Given the description of an element on the screen output the (x, y) to click on. 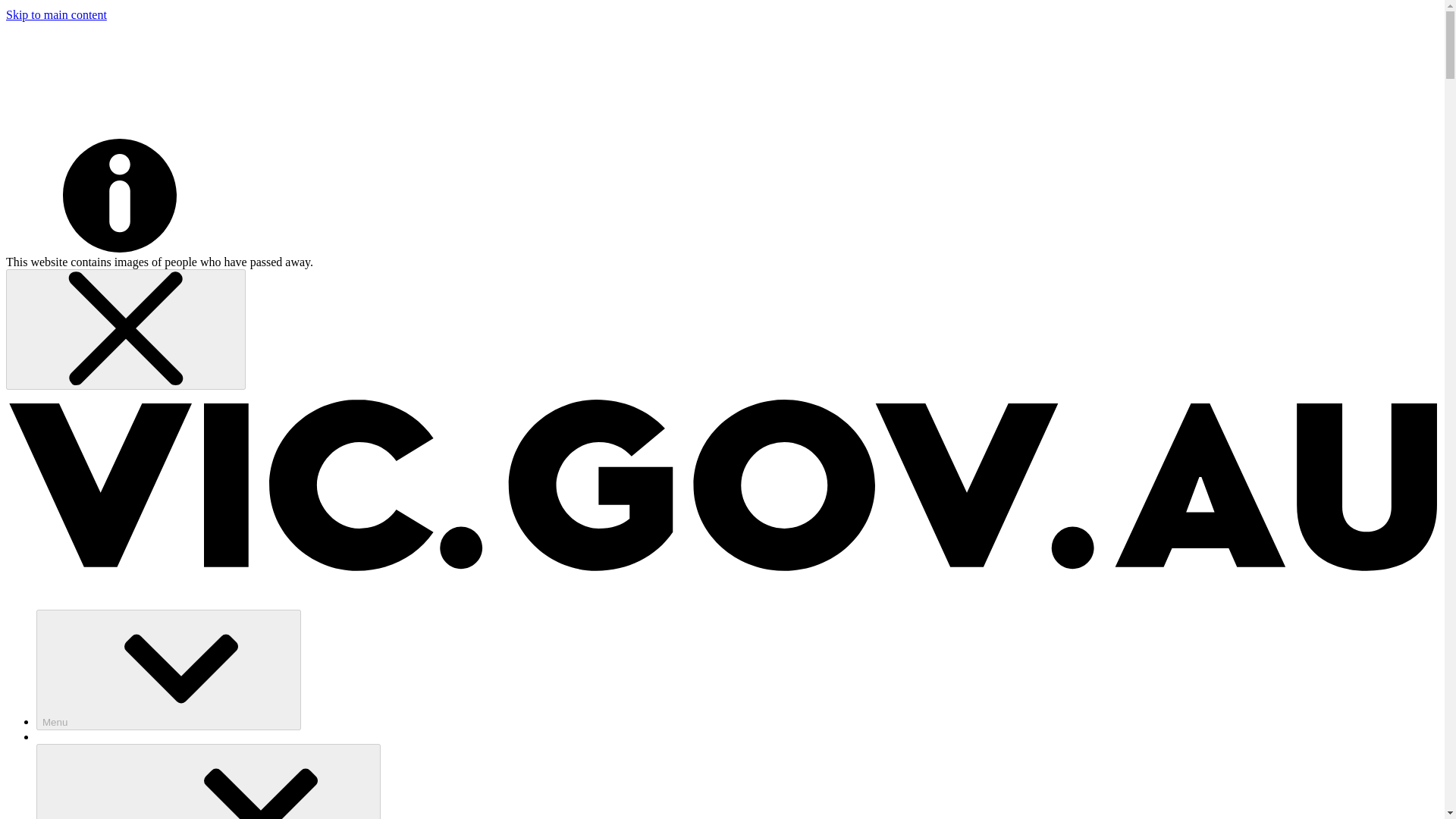
Skip to main content (55, 14)
Dismiss alert (125, 327)
Dismiss alert (125, 329)
